Given the description of an element on the screen output the (x, y) to click on. 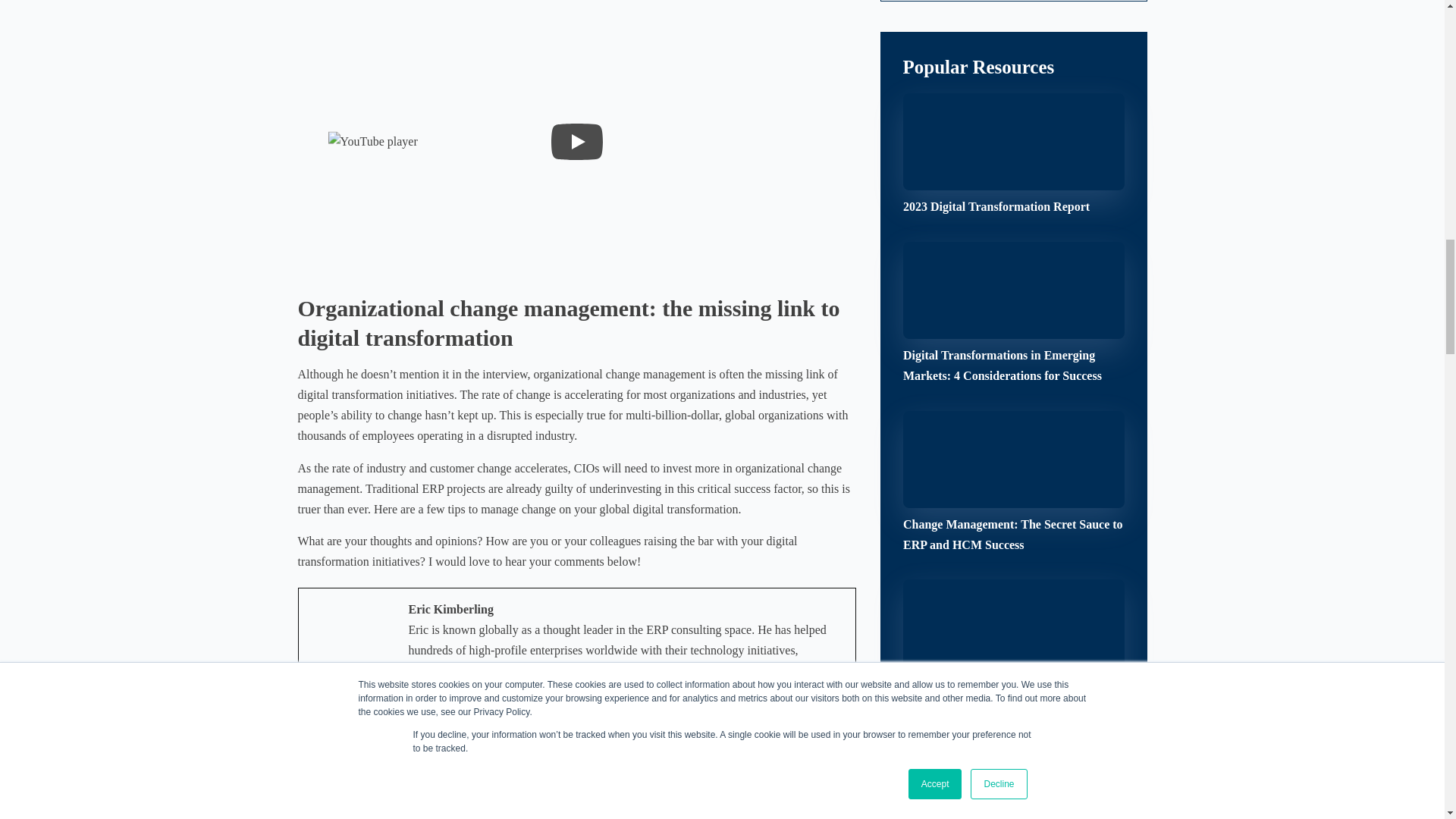
Email (501, 801)
Share on LinkedIn (641, 801)
Share on Facebook (361, 801)
